Given the description of an element on the screen output the (x, y) to click on. 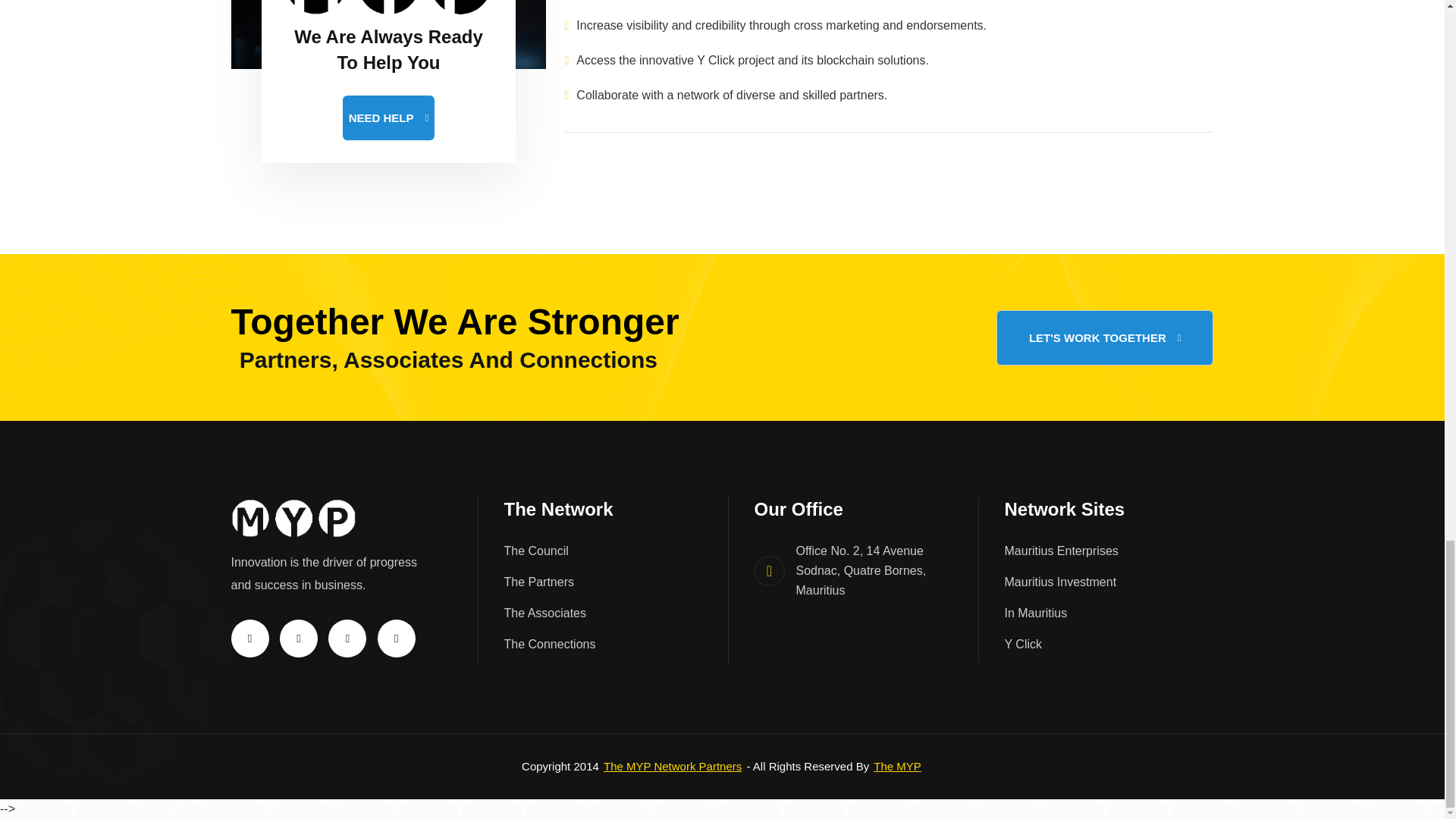
LET'S WORK TOGETHER (1104, 336)
